Given the description of an element on the screen output the (x, y) to click on. 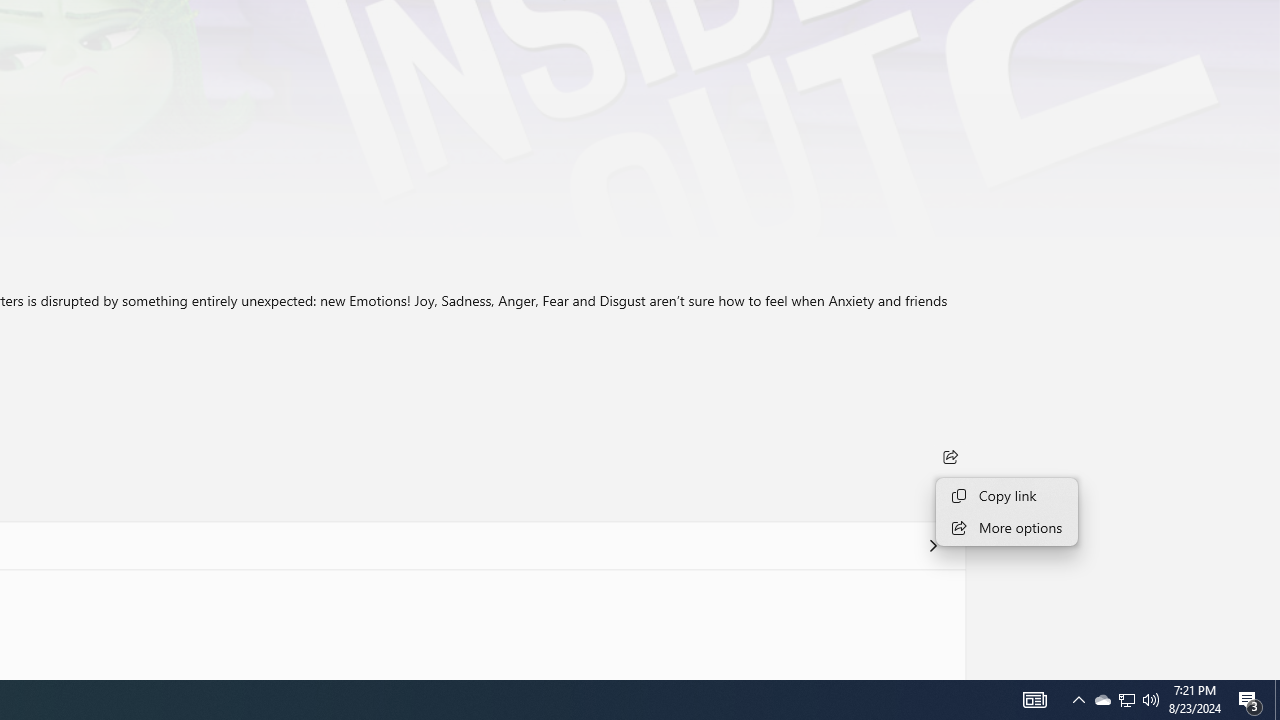
See all (932, 544)
Share (950, 456)
